Given the description of an element on the screen output the (x, y) to click on. 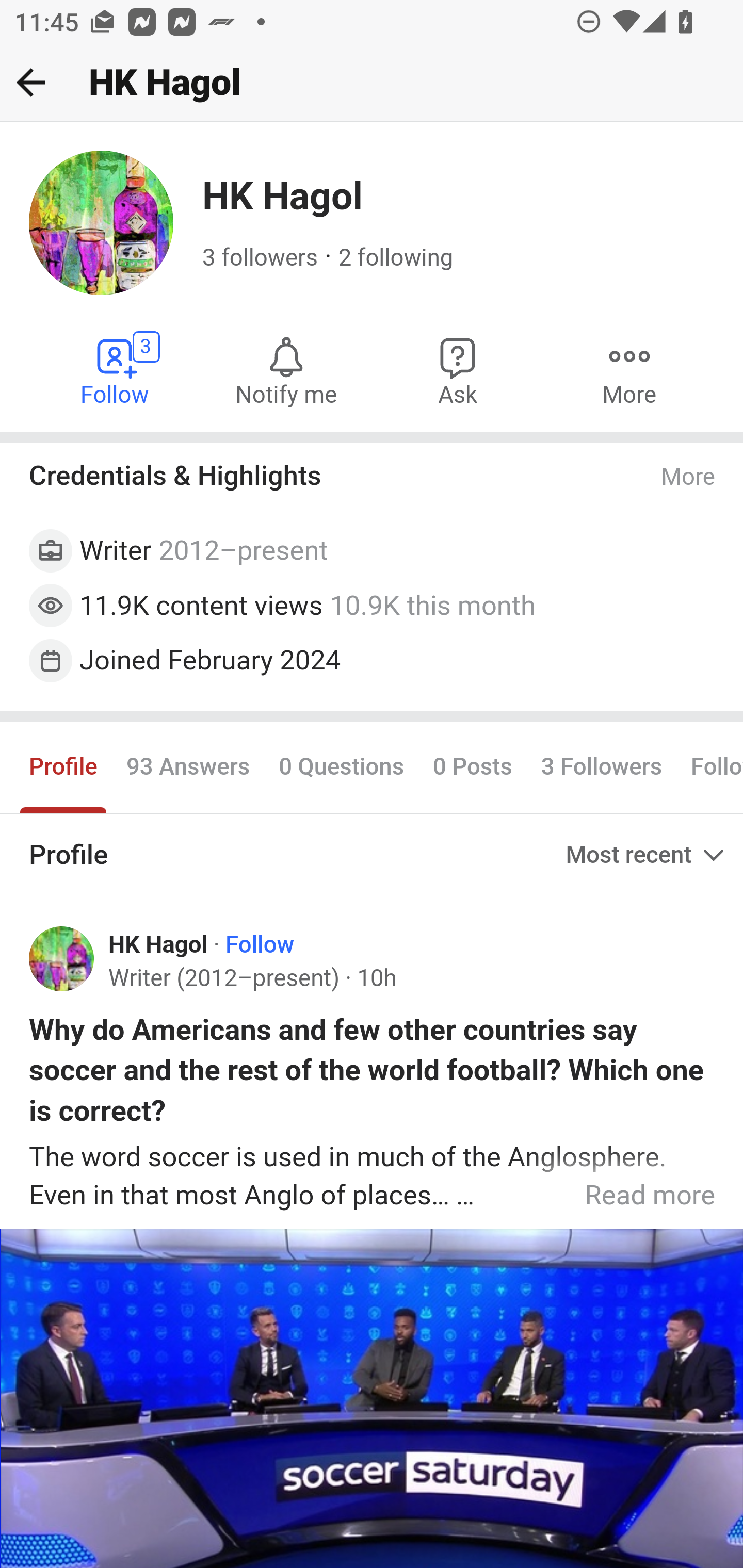
Back HK Hagol (371, 82)
Back (30, 82)
3 followers (260, 257)
2 following (395, 257)
Follow HK Hagol 3 Follow (115, 370)
Notify me (285, 370)
Ask (458, 370)
More (628, 370)
More (688, 477)
Profile (63, 766)
93 Answers (187, 766)
0 Questions (341, 766)
0 Posts (471, 766)
3 Followers (600, 766)
Most recent (647, 854)
Profile photo for HK Hagol (61, 959)
HK Hagol (158, 944)
Follow (259, 944)
10h 10 h (376, 979)
